Given the description of an element on the screen output the (x, y) to click on. 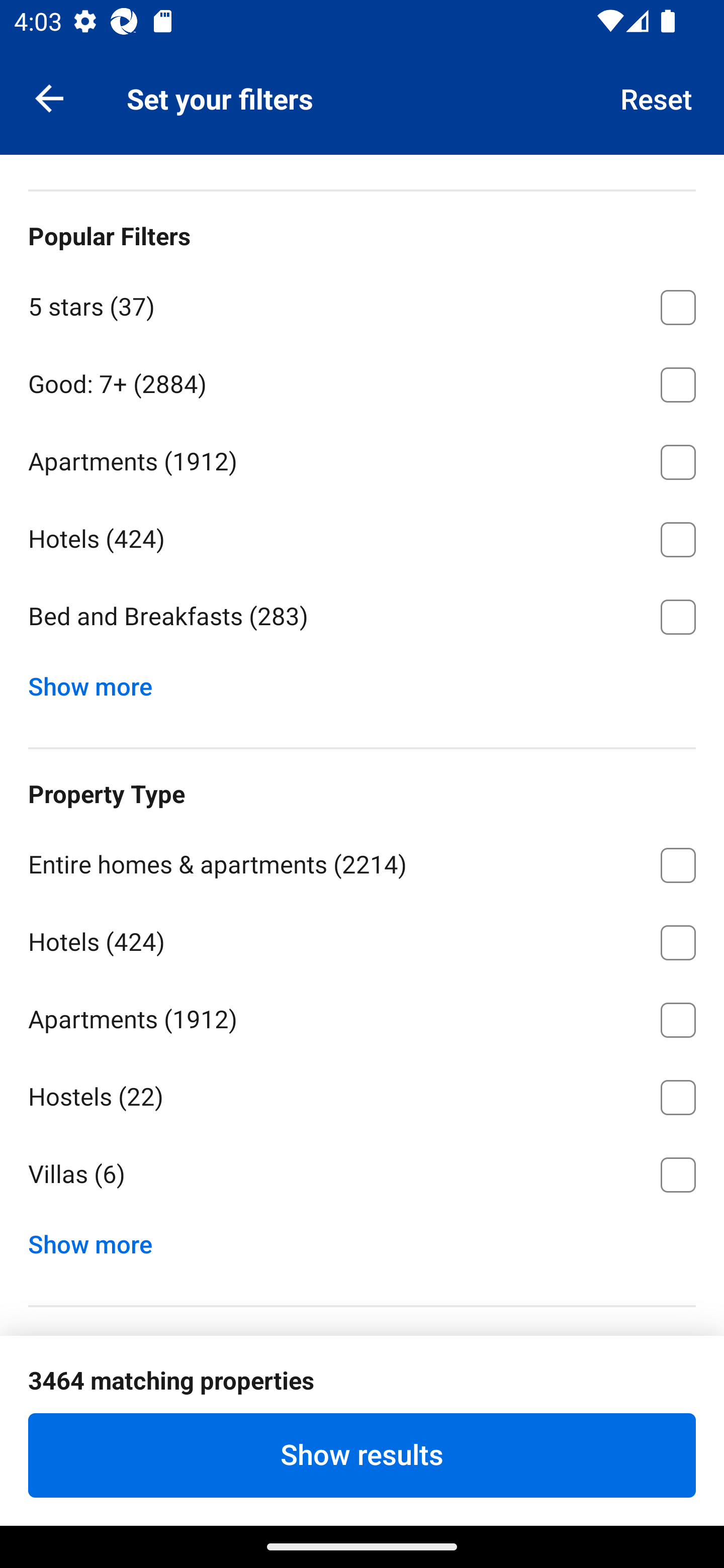
Navigate up (49, 97)
Reset (656, 97)
5 stars ⁦(37) (361, 303)
Good: 7+ ⁦(2884) (361, 381)
Apartments ⁦(1912) (361, 458)
Hotels ⁦(424) (361, 536)
Bed and Breakfasts ⁦(283) (361, 617)
Show more (97, 682)
Entire homes & apartments ⁦(2214) (361, 861)
Hotels ⁦(424) (361, 939)
Apartments ⁦(1912) (361, 1016)
Hostels ⁦(22) (361, 1093)
Villas ⁦(6) (361, 1174)
Show more (97, 1239)
Show results (361, 1454)
